Given the description of an element on the screen output the (x, y) to click on. 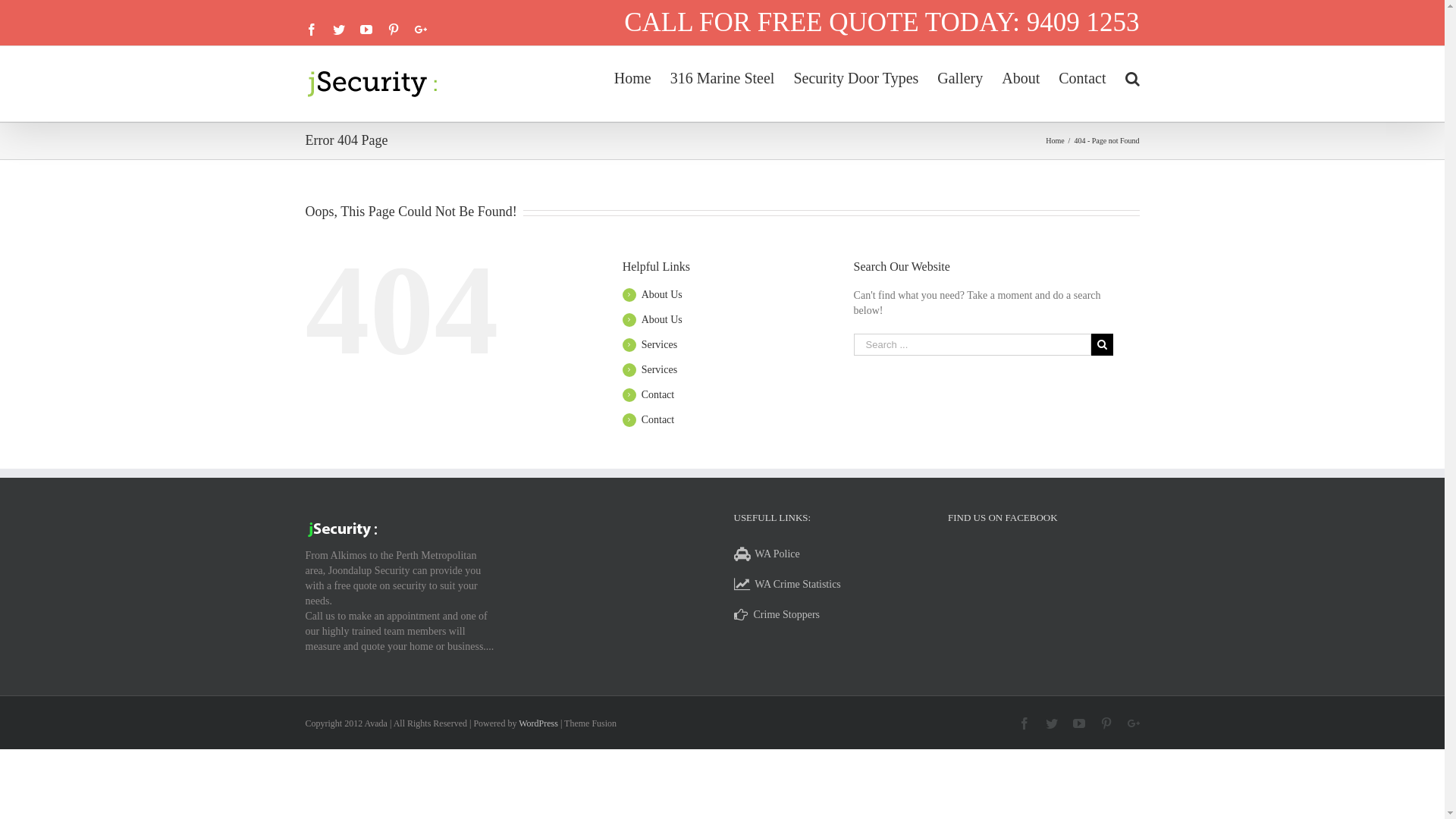
Contact Element type: text (657, 419)
Security Door Types Element type: text (855, 76)
About Element type: text (1020, 76)
About Us Element type: text (661, 319)
Home Element type: text (1054, 140)
Youtube Element type: text (1078, 723)
Contact Element type: text (657, 394)
WordPress Element type: text (538, 723)
WA Crime Statistics Element type: text (797, 583)
Google+ Element type: text (420, 29)
Facebook Element type: text (1023, 723)
Twitter Element type: text (1050, 723)
Pinterest Element type: text (1105, 723)
Services Element type: text (659, 369)
WA Police Element type: text (777, 553)
Facebook Element type: text (310, 29)
316 Marine Steel Element type: text (722, 76)
Youtube Element type: text (365, 29)
Contact Element type: text (1081, 76)
  Element type: text (744, 583)
About Us Element type: text (661, 294)
Services Element type: text (659, 344)
Twitter Element type: text (338, 29)
Crime Stoppers Element type: text (786, 614)
Pinterest Element type: text (392, 29)
Gallery Element type: text (959, 76)
  Element type: text (744, 553)
  Element type: text (743, 614)
Google+ Element type: text (1132, 723)
Home Element type: text (632, 76)
